Given the description of an element on the screen output the (x, y) to click on. 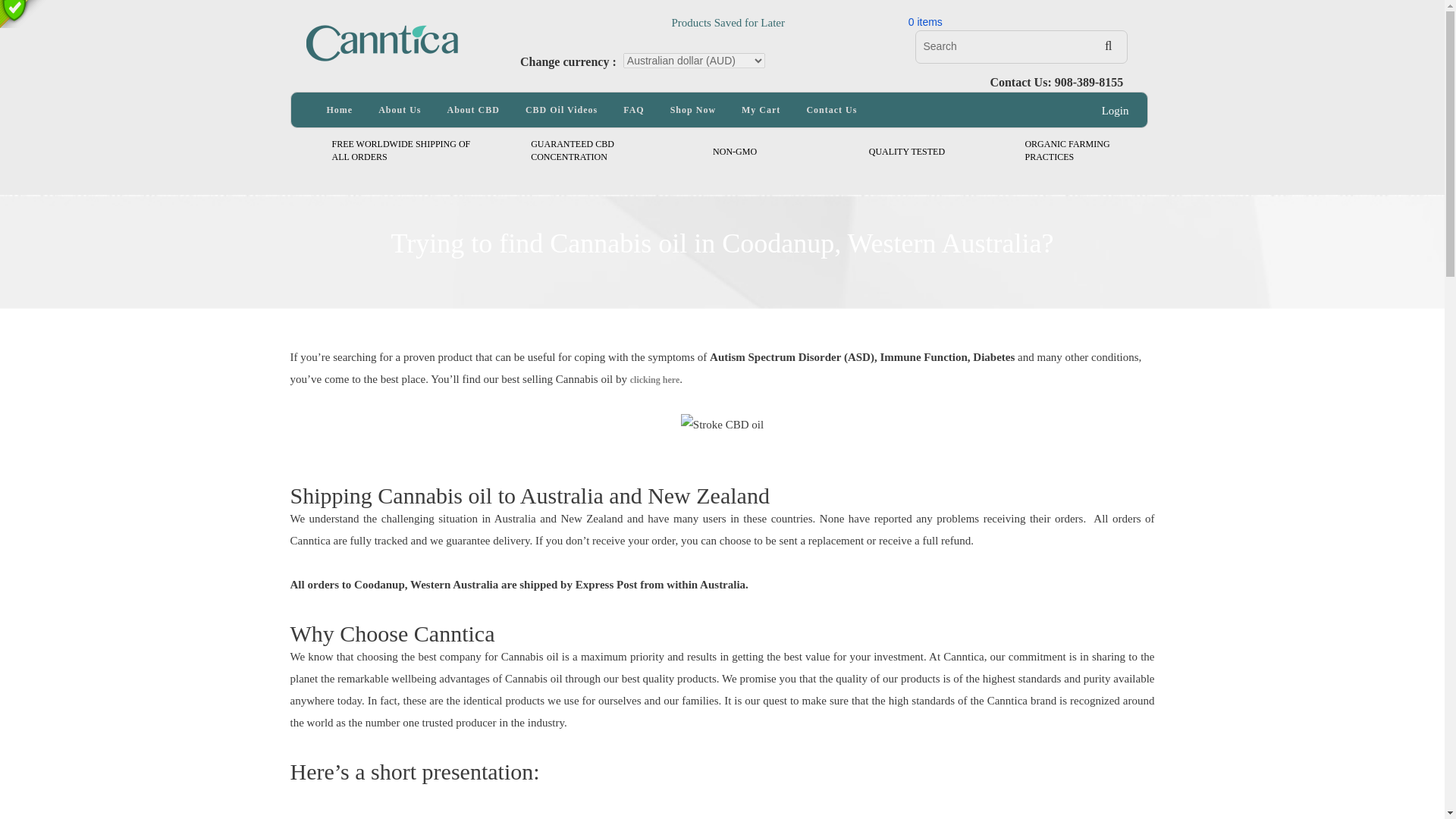
QUALITY TESTED (906, 151)
Products Saved for Later (648, 14)
0 items (925, 21)
Contact Us (831, 109)
Login (1115, 110)
FAQ (633, 109)
FREE WORLDWIDE SHIPPING OF ALL ORDERS (400, 150)
About Us (399, 109)
My Cart (572, 150)
